Given the description of an element on the screen output the (x, y) to click on. 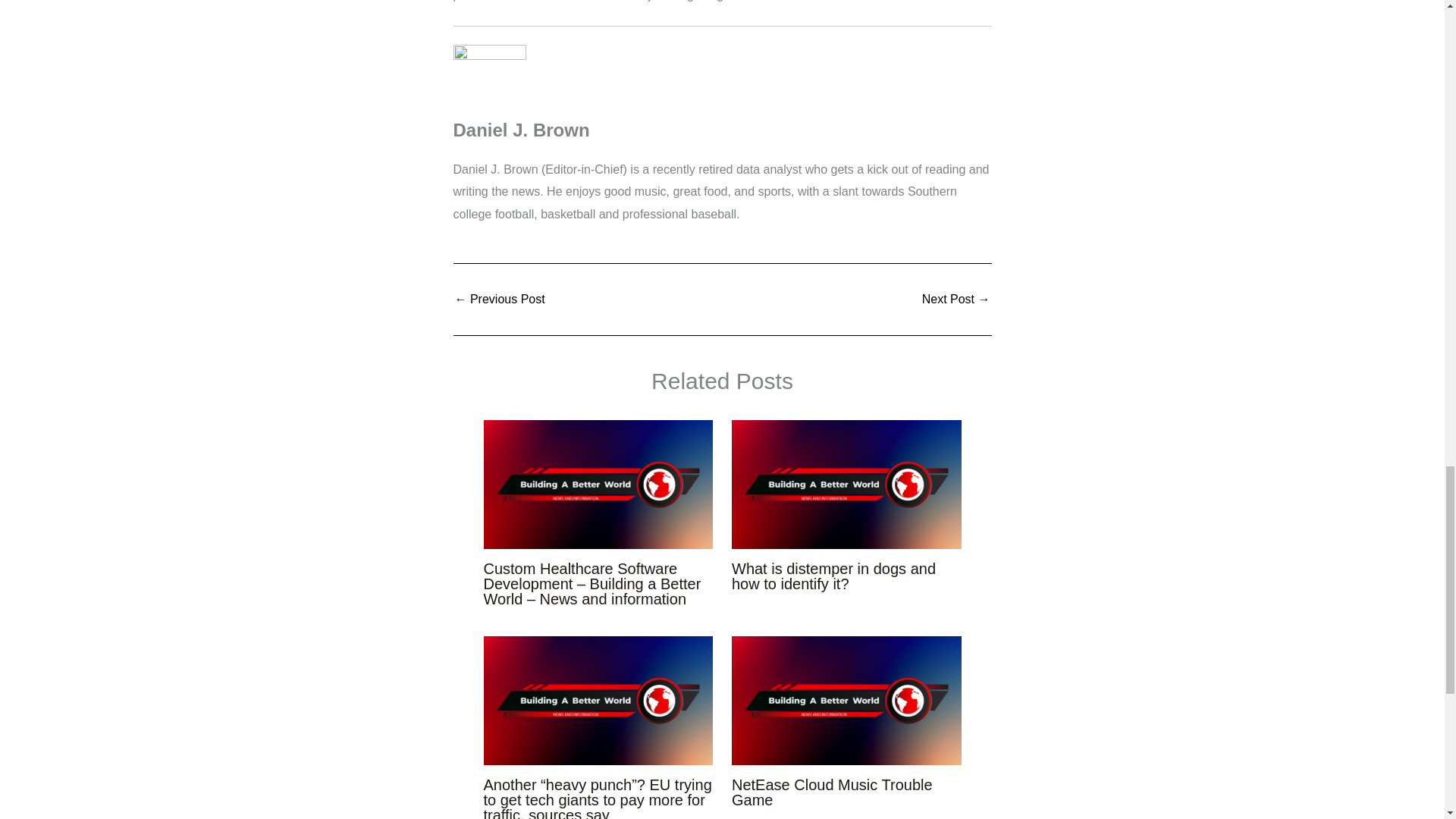
Embattled Samsung wraps up another patent suit with Nvidia (955, 299)
What is distemper in dogs and how to identify it? (834, 576)
NetEase Cloud Music Trouble Game (832, 792)
